Given the description of an element on the screen output the (x, y) to click on. 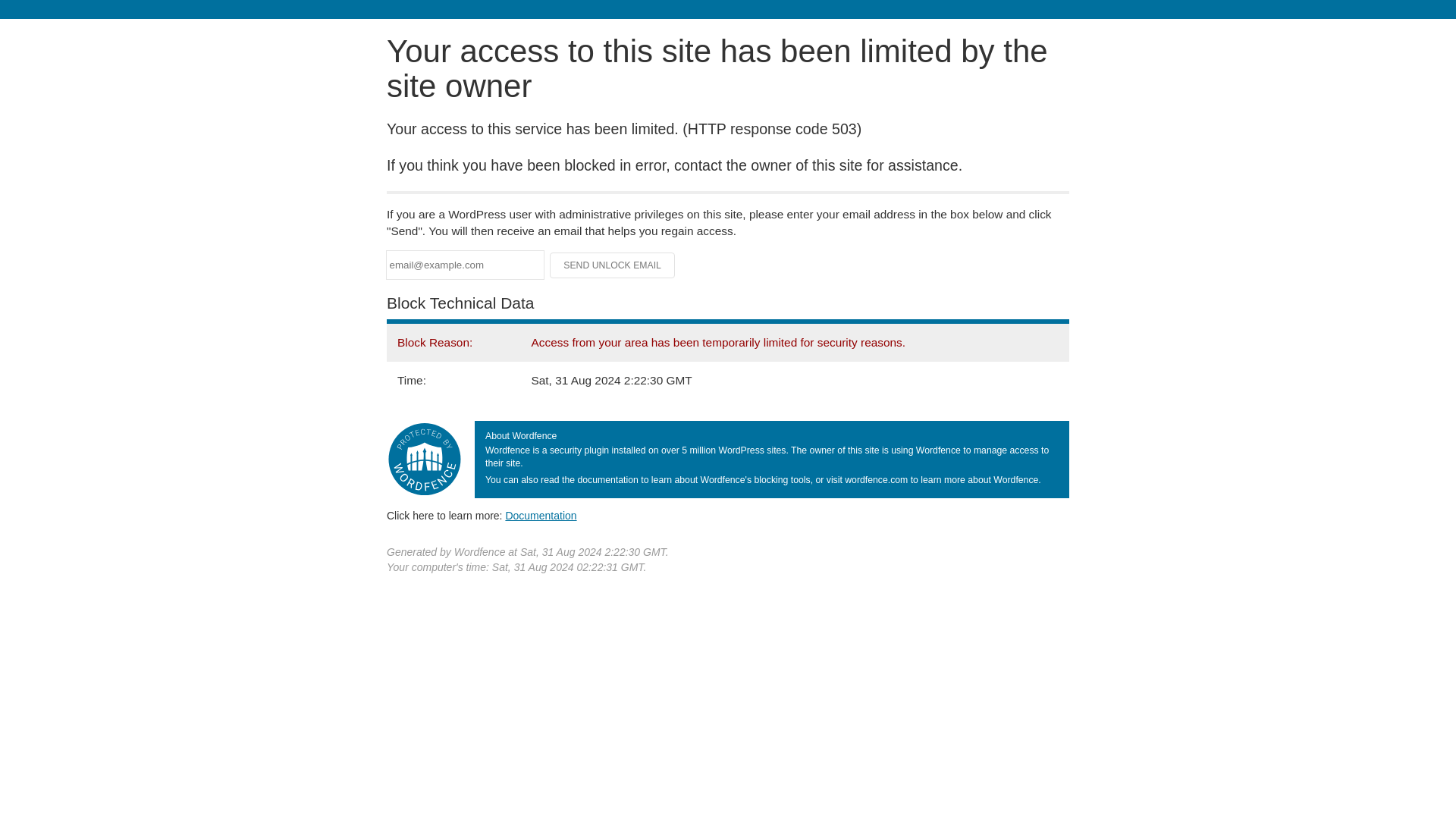
Documentation (540, 515)
Send Unlock Email (612, 265)
Send Unlock Email (612, 265)
